Given the description of an element on the screen output the (x, y) to click on. 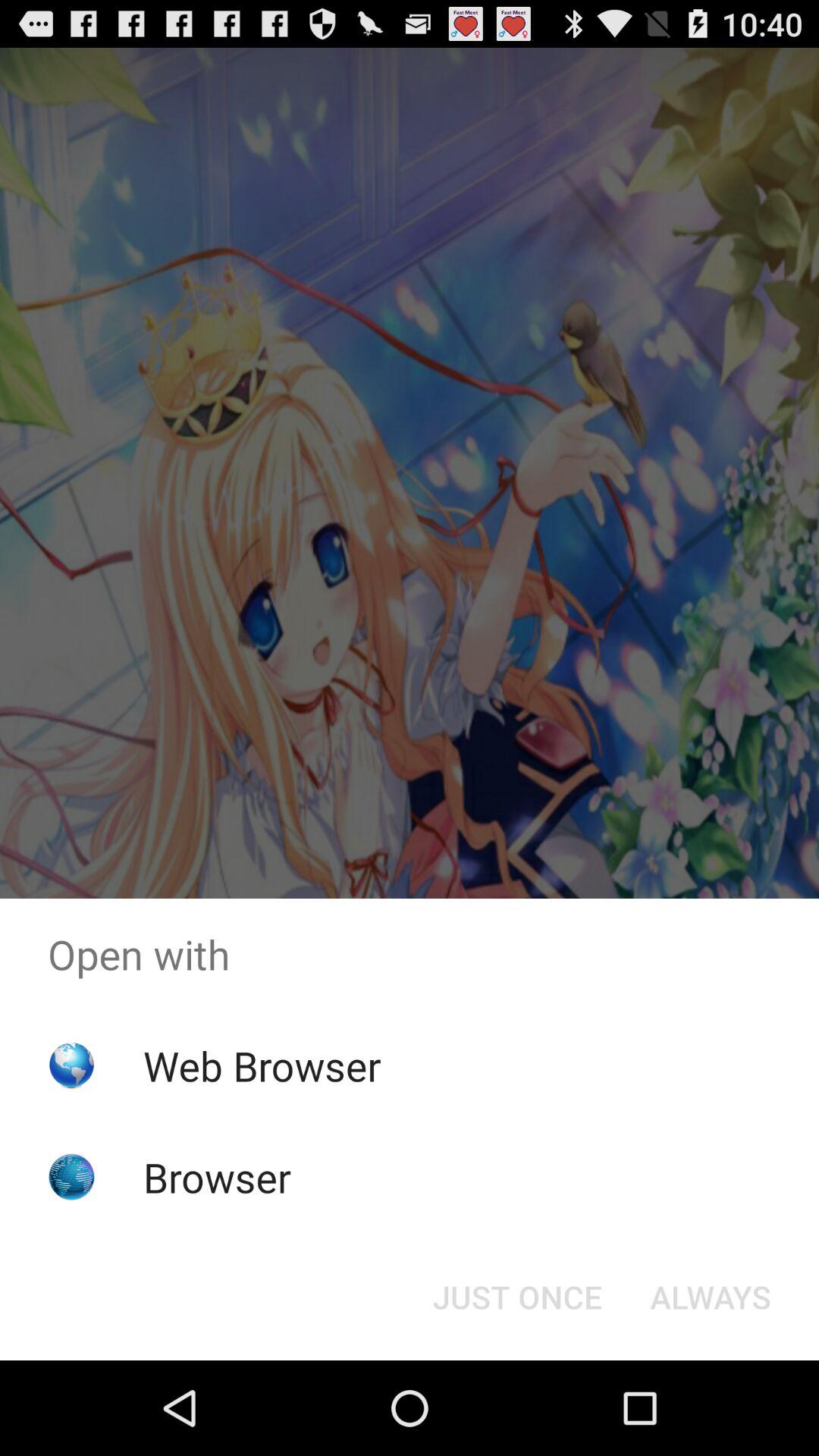
tap just once (517, 1296)
